Given the description of an element on the screen output the (x, y) to click on. 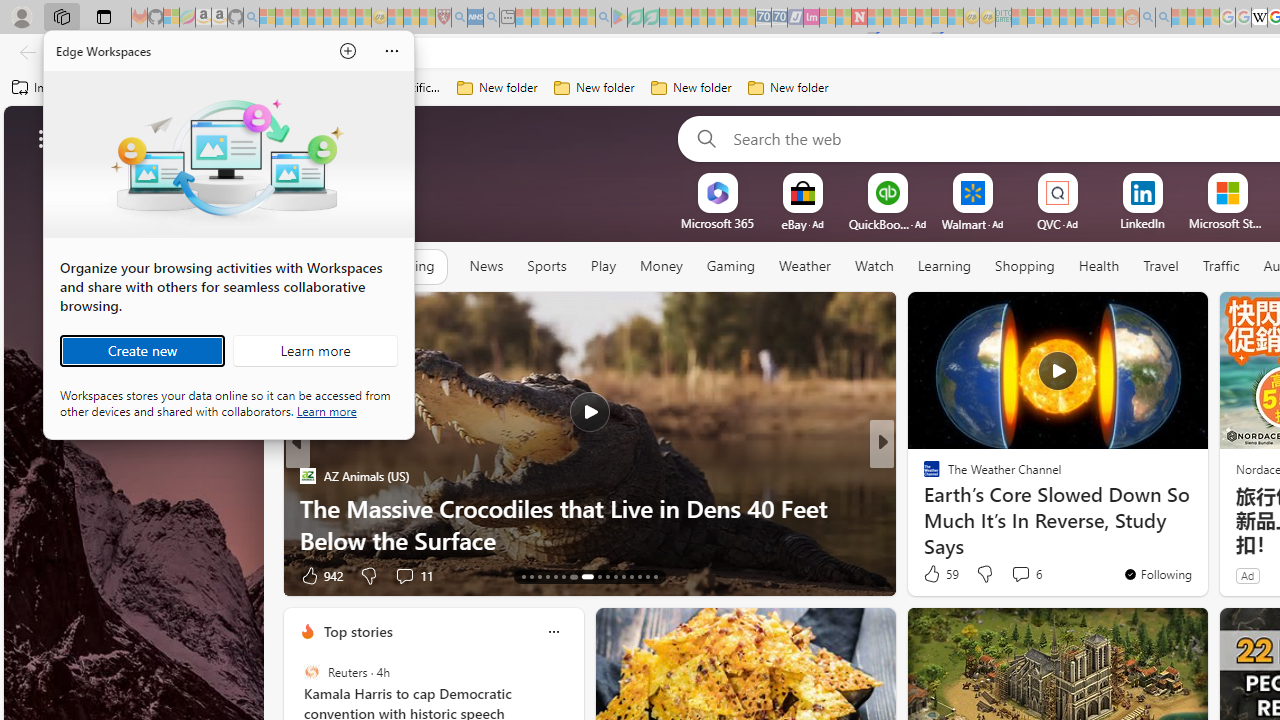
AutomationID: tab-24 (623, 576)
The Spicy Chefs (923, 475)
View comments 2 Comment (1019, 575)
AutomationID: tab-19 (571, 576)
Jobs - lastminute.com Investor Portal - Sleeping (811, 17)
409 Like (936, 574)
Class: icon-img (553, 632)
59 Like (939, 574)
Learning (944, 267)
97 Like (934, 574)
View comments 5 Comment (1014, 575)
Terms of Use Agreement - Sleeping (635, 17)
LinkedIn (1142, 223)
